Given the description of an element on the screen output the (x, y) to click on. 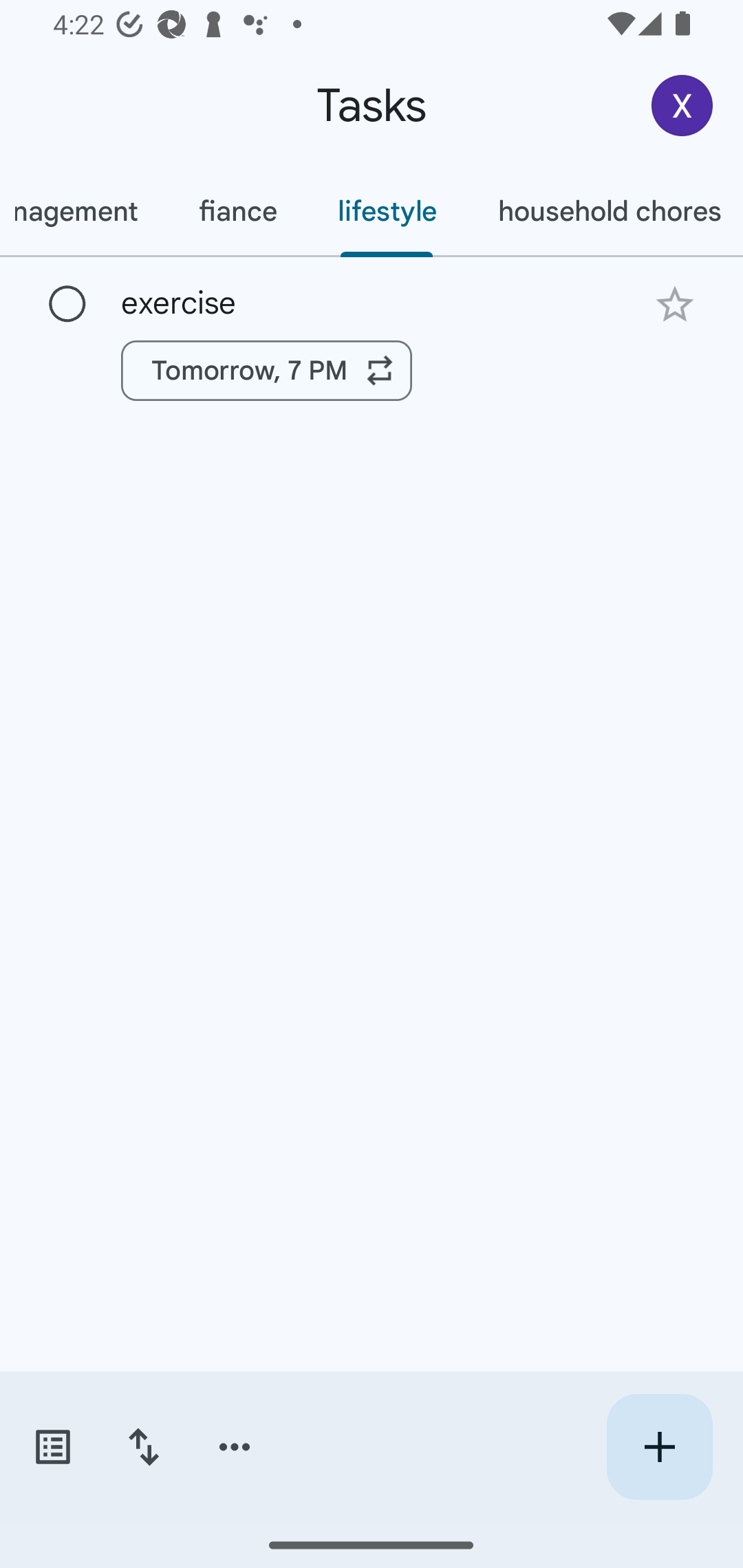
home management (83, 211)
fiance (236, 211)
household chores (605, 211)
Add star (674, 303)
Mark as complete (67, 304)
Tomorrow, 7 PM (266, 369)
Switch task lists (52, 1447)
Create new task (659, 1446)
Change sort order (143, 1446)
More options (234, 1446)
